Given the description of an element on the screen output the (x, y) to click on. 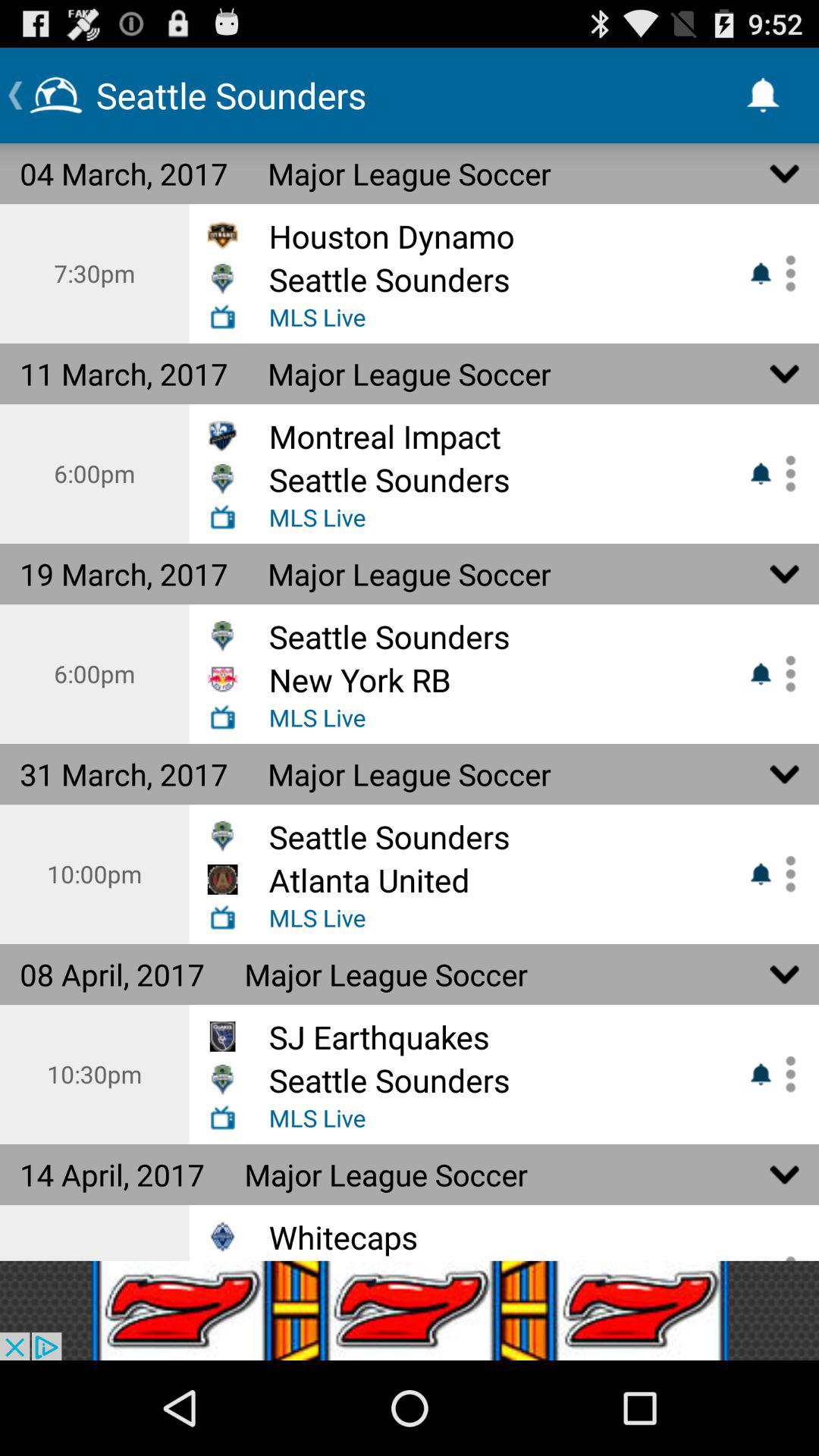
more option (785, 1074)
